Given the description of an element on the screen output the (x, y) to click on. 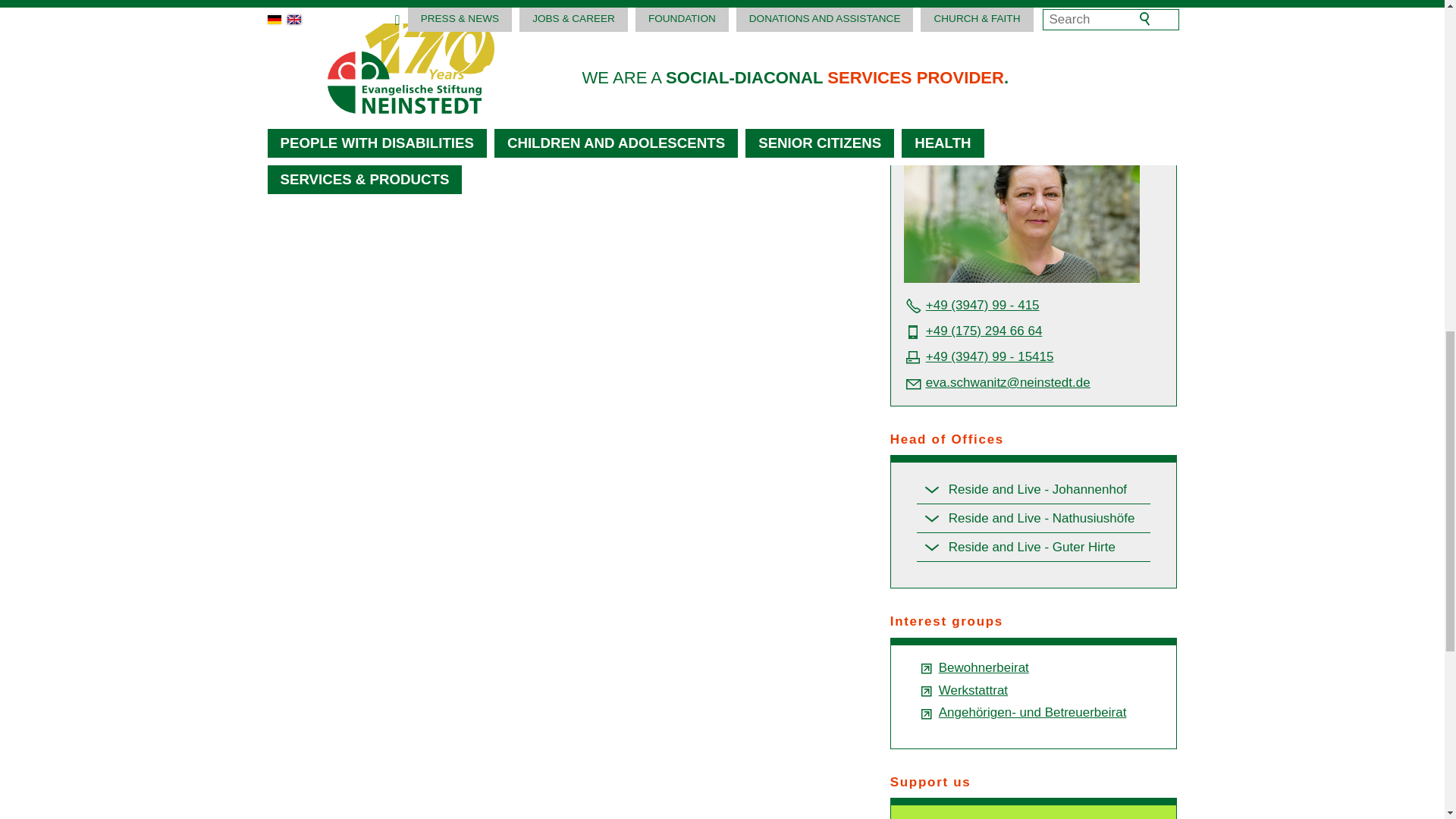
Add to contacts (1163, 68)
Eva  Schwanitz (1022, 204)
